Given the description of an element on the screen output the (x, y) to click on. 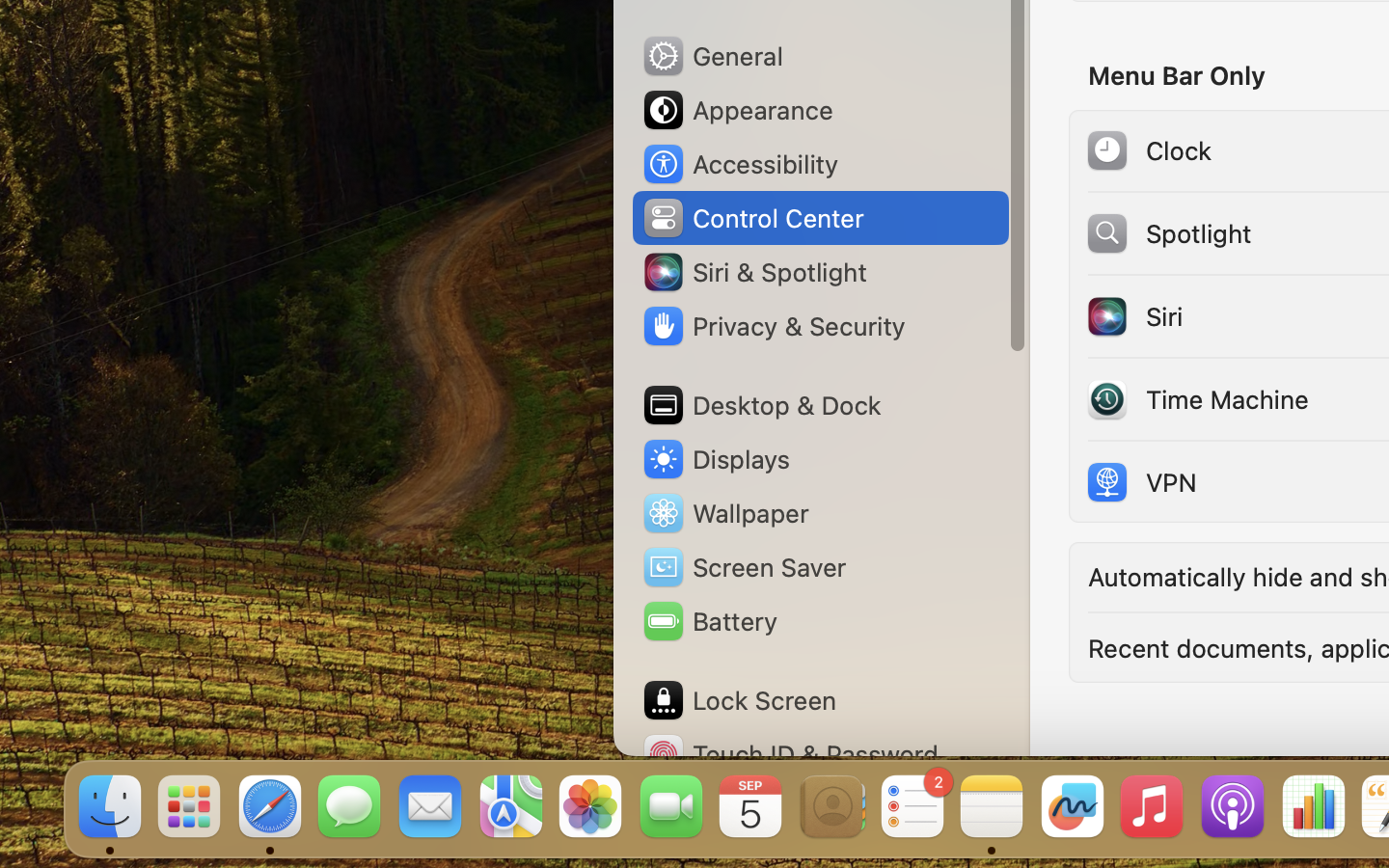
Accessibility Element type: AXStaticText (739, 163)
Battery Element type: AXStaticText (708, 620)
Clock Element type: AXStaticText (1147, 150)
